Given the description of an element on the screen output the (x, y) to click on. 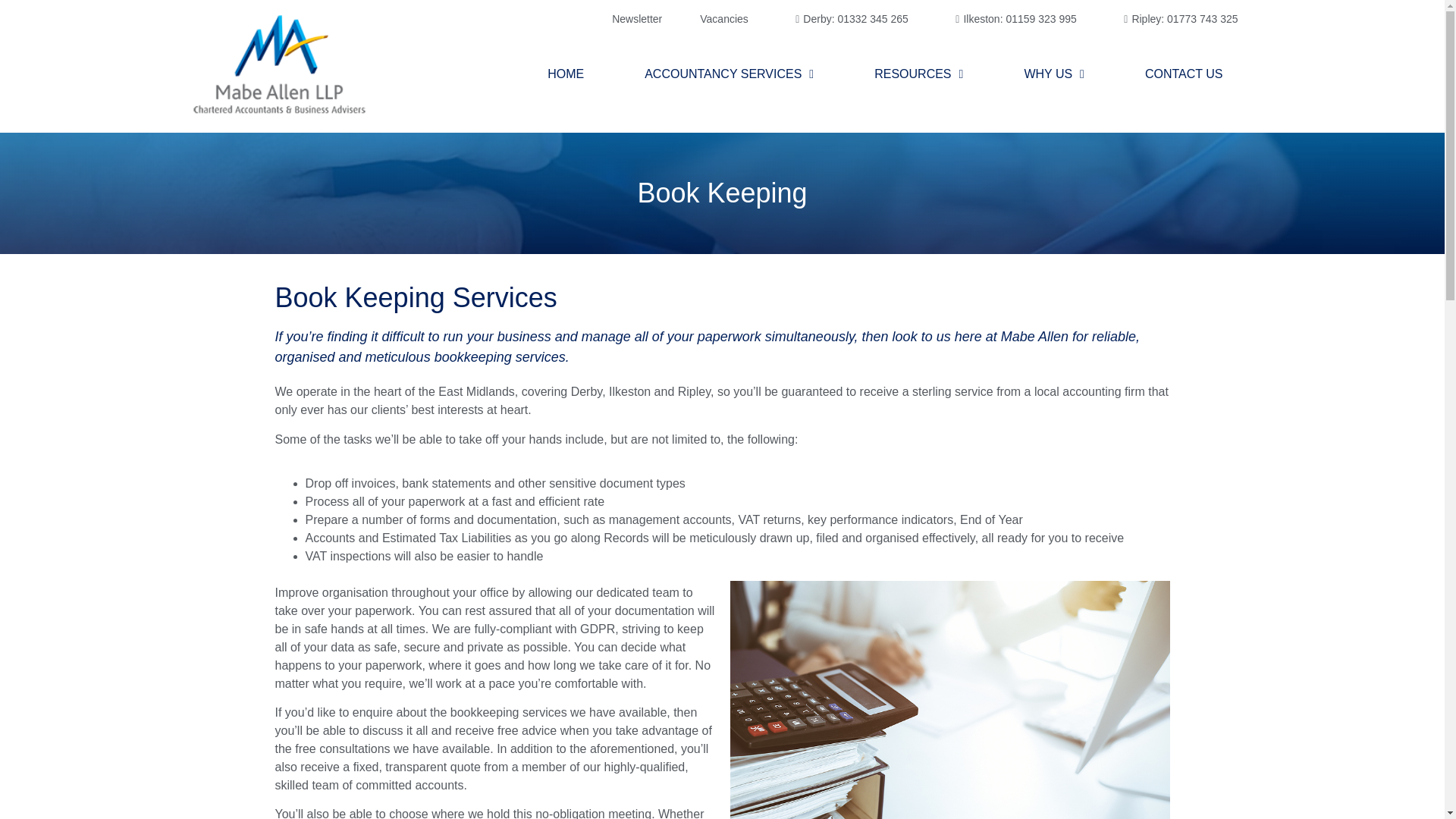
ACCOUNTANCY SERVICES (729, 73)
Derby: 01332 345 265 (847, 19)
Newsletter (636, 19)
Vacancies (724, 19)
HOME (565, 73)
Ilkeston: 01159 323 995 (1011, 19)
Ripley: 01773 743 325 (1177, 19)
